Given the description of an element on the screen output the (x, y) to click on. 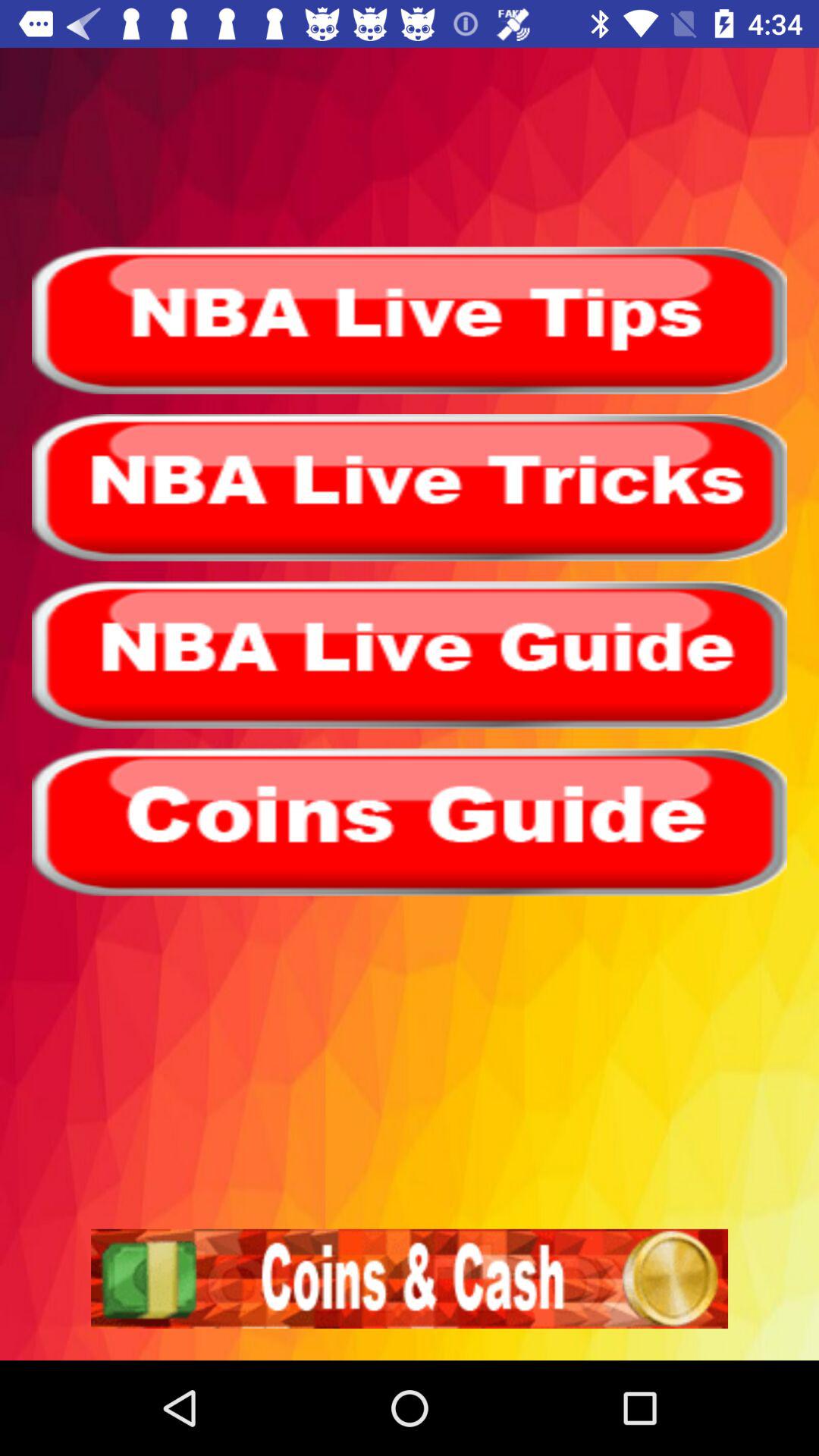
open cash store (409, 1278)
